Given the description of an element on the screen output the (x, y) to click on. 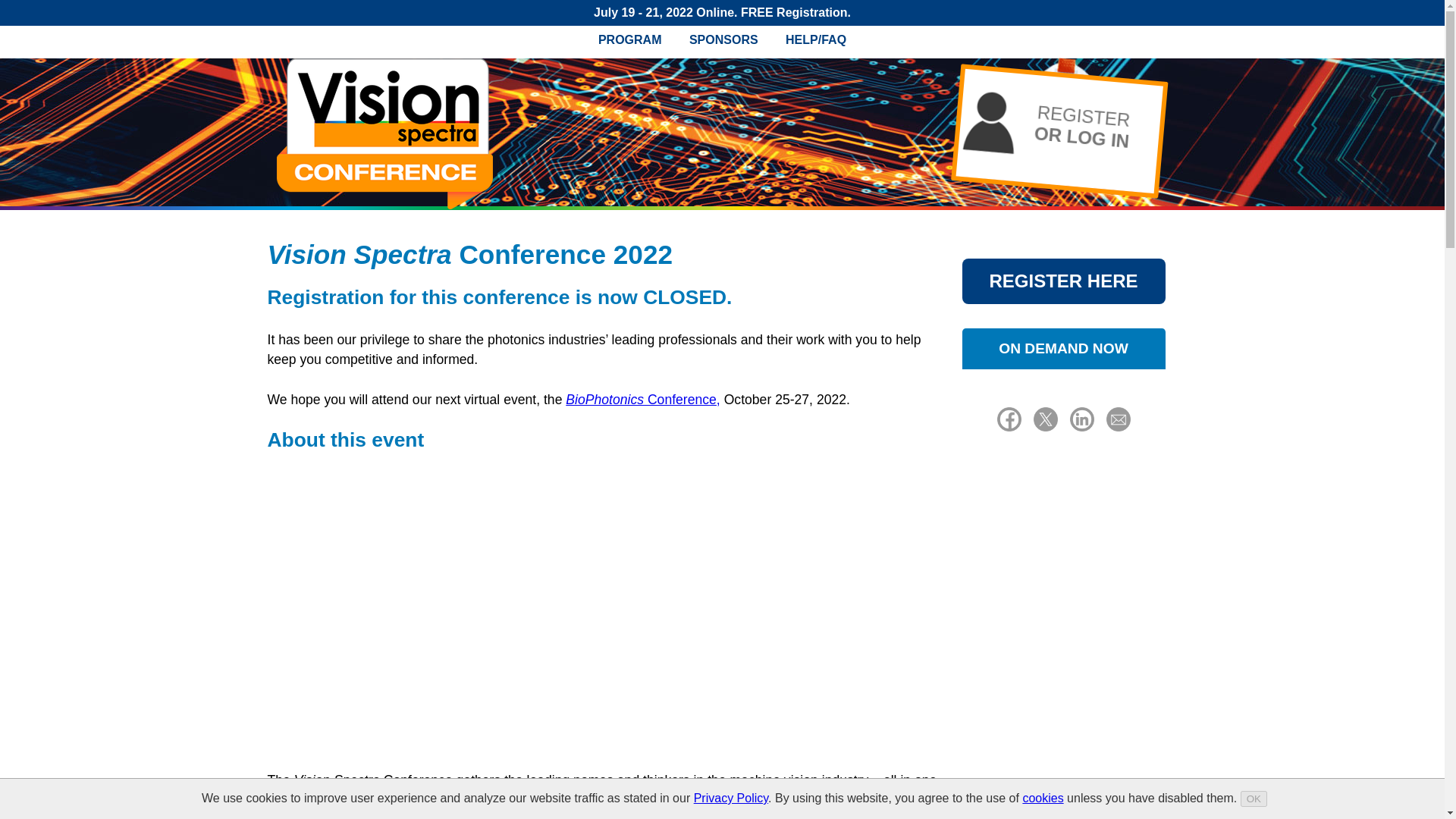
ON DEMAND NOW (1062, 348)
BioPhotonics Conference, (642, 399)
SPONSORS (723, 40)
PROGRAM (630, 40)
REGISTER HERE (1062, 280)
OK (1253, 798)
